Given the description of an element on the screen output the (x, y) to click on. 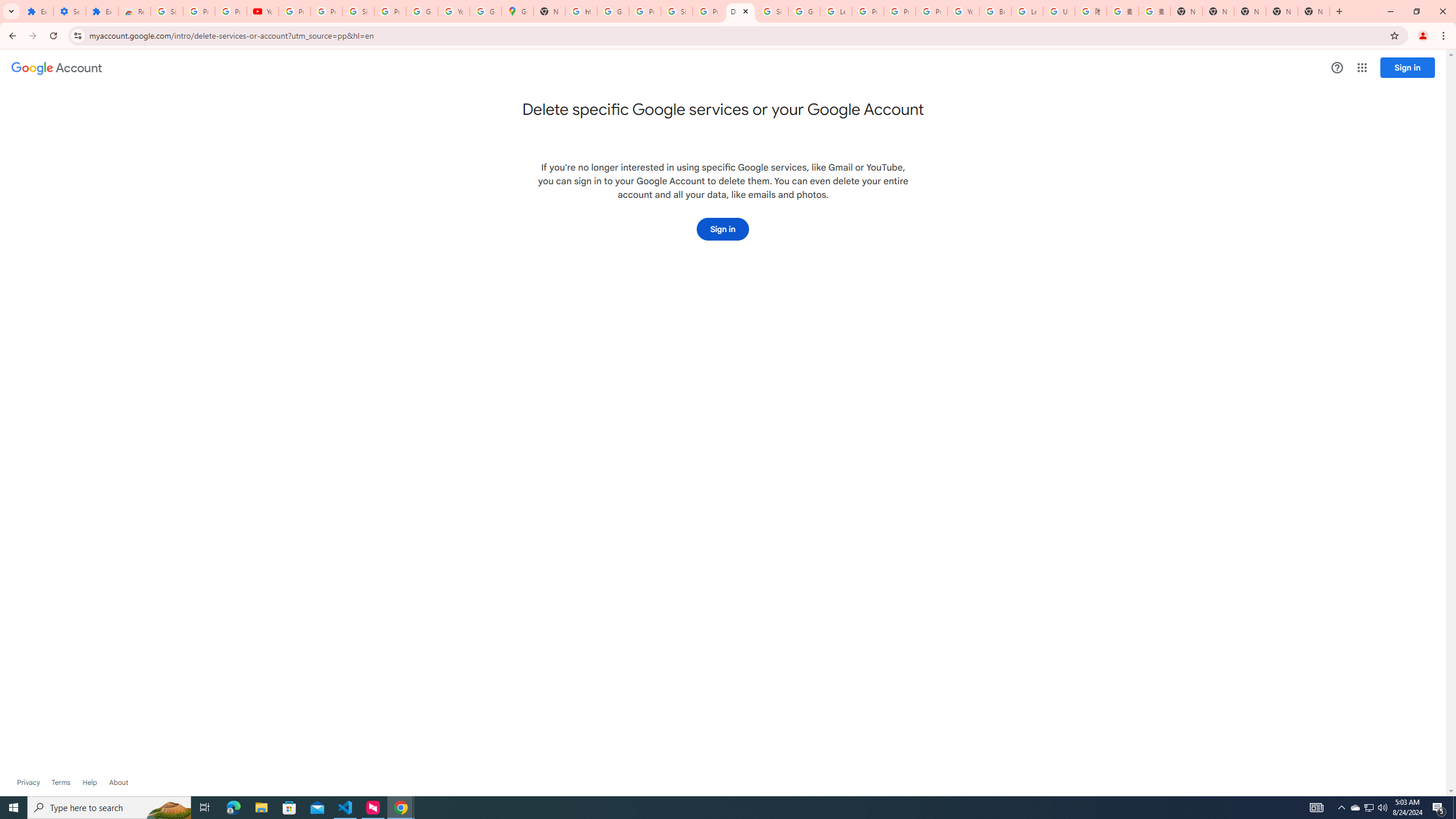
Learn more about Google Account (118, 782)
